Given the description of an element on the screen output the (x, y) to click on. 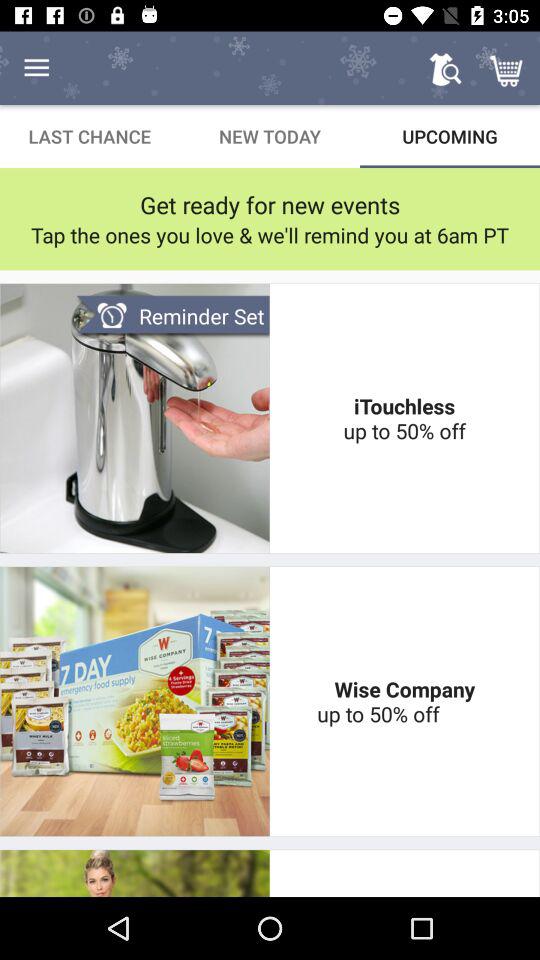
open the item above the tap the ones item (270, 204)
